Given the description of an element on the screen output the (x, y) to click on. 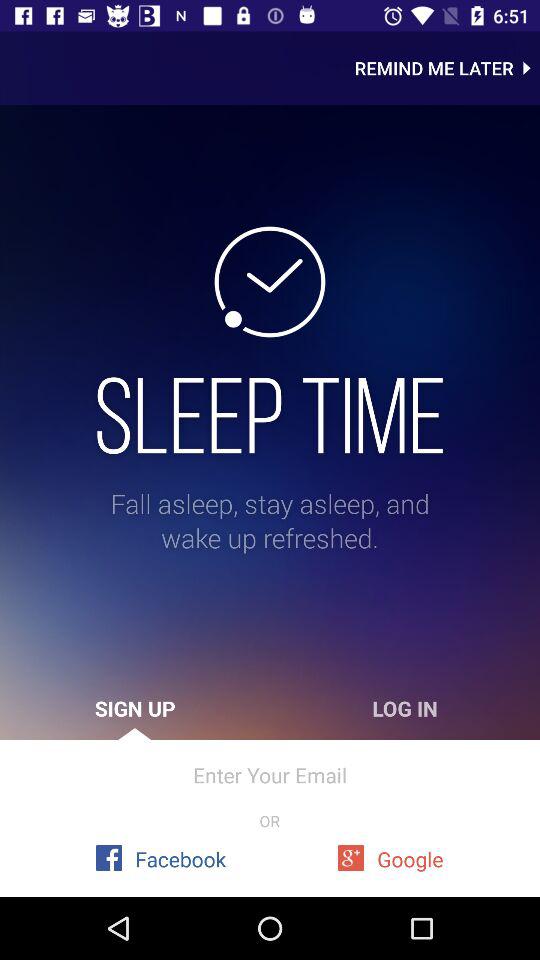
swipe until log in icon (405, 707)
